Given the description of an element on the screen output the (x, y) to click on. 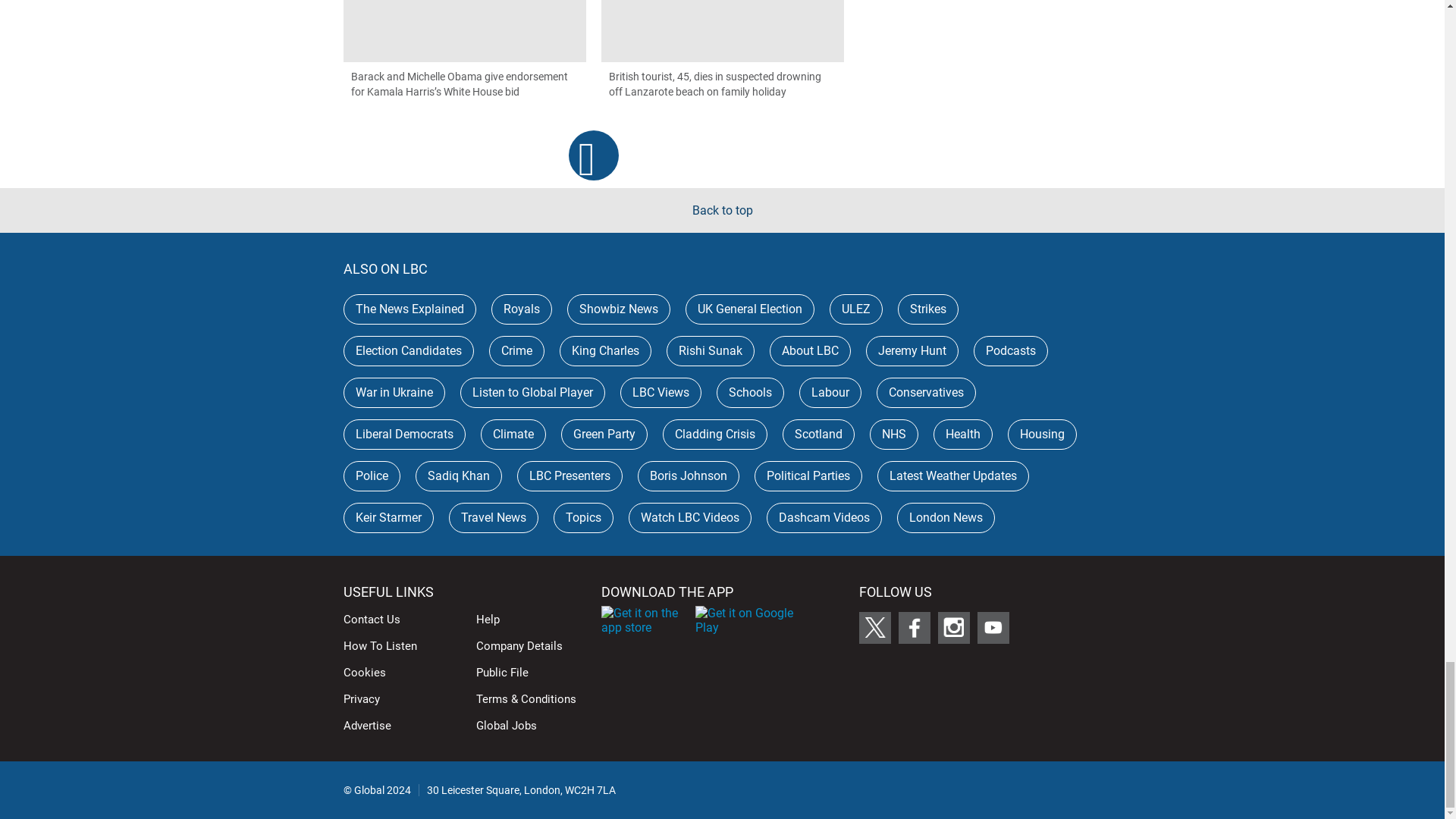
Follow LBC on Youtube (992, 627)
Back to top (721, 210)
Follow LBC on Instagram (953, 627)
Follow LBC on Facebook (914, 627)
Follow LBC on X (874, 627)
View More (593, 155)
